Given the description of an element on the screen output the (x, y) to click on. 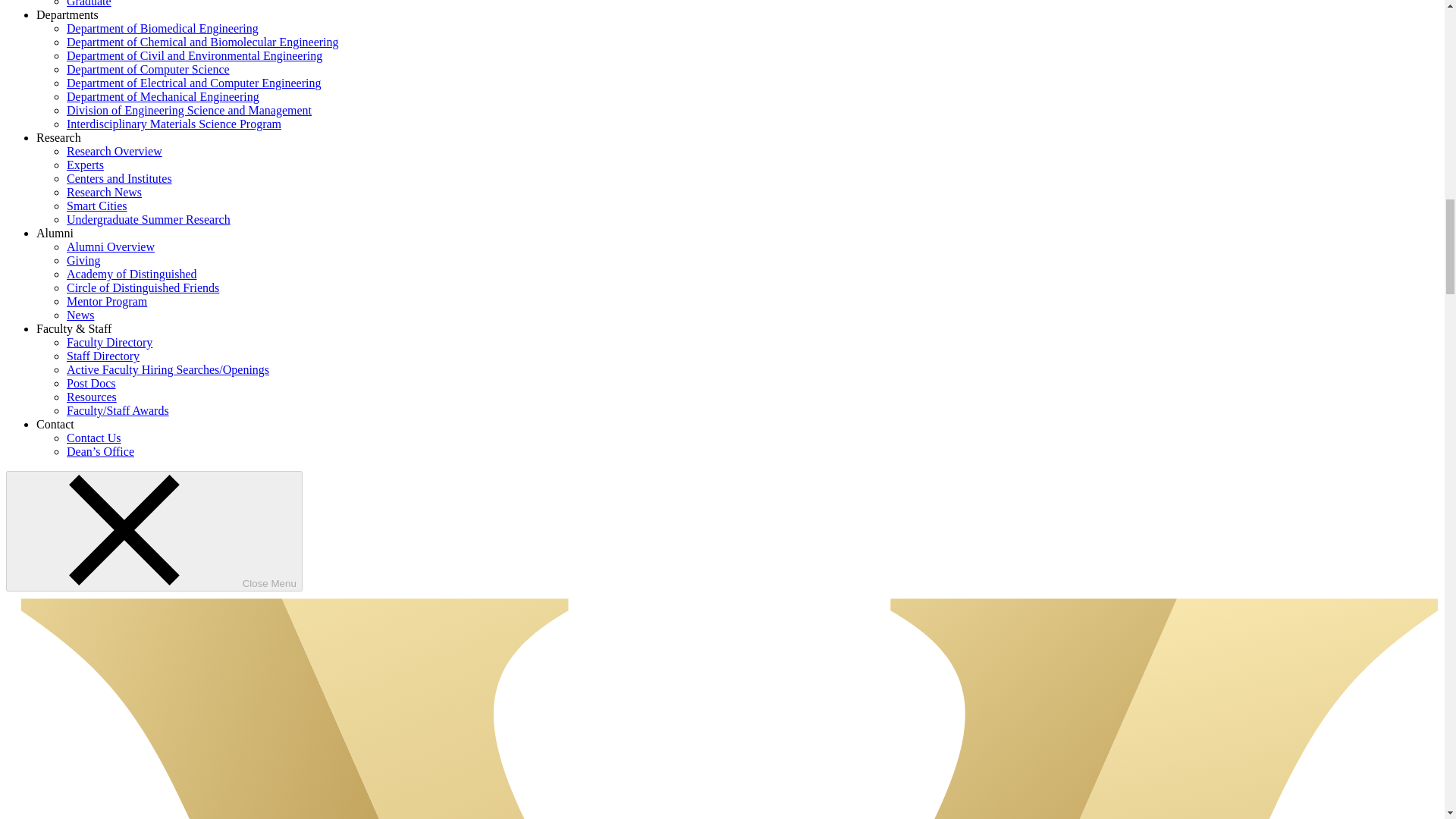
Research (58, 137)
Research News (103, 192)
Giving (83, 259)
Department of Civil and Environmental Engineering (193, 55)
Department of Electrical and Computer Engineering (193, 82)
Department of Computer Science (148, 69)
Circle of Distinguished Friends (142, 287)
Graduate (89, 3)
Undergraduate Summer Research (148, 219)
Department of Mechanical Engineering (162, 96)
